Given the description of an element on the screen output the (x, y) to click on. 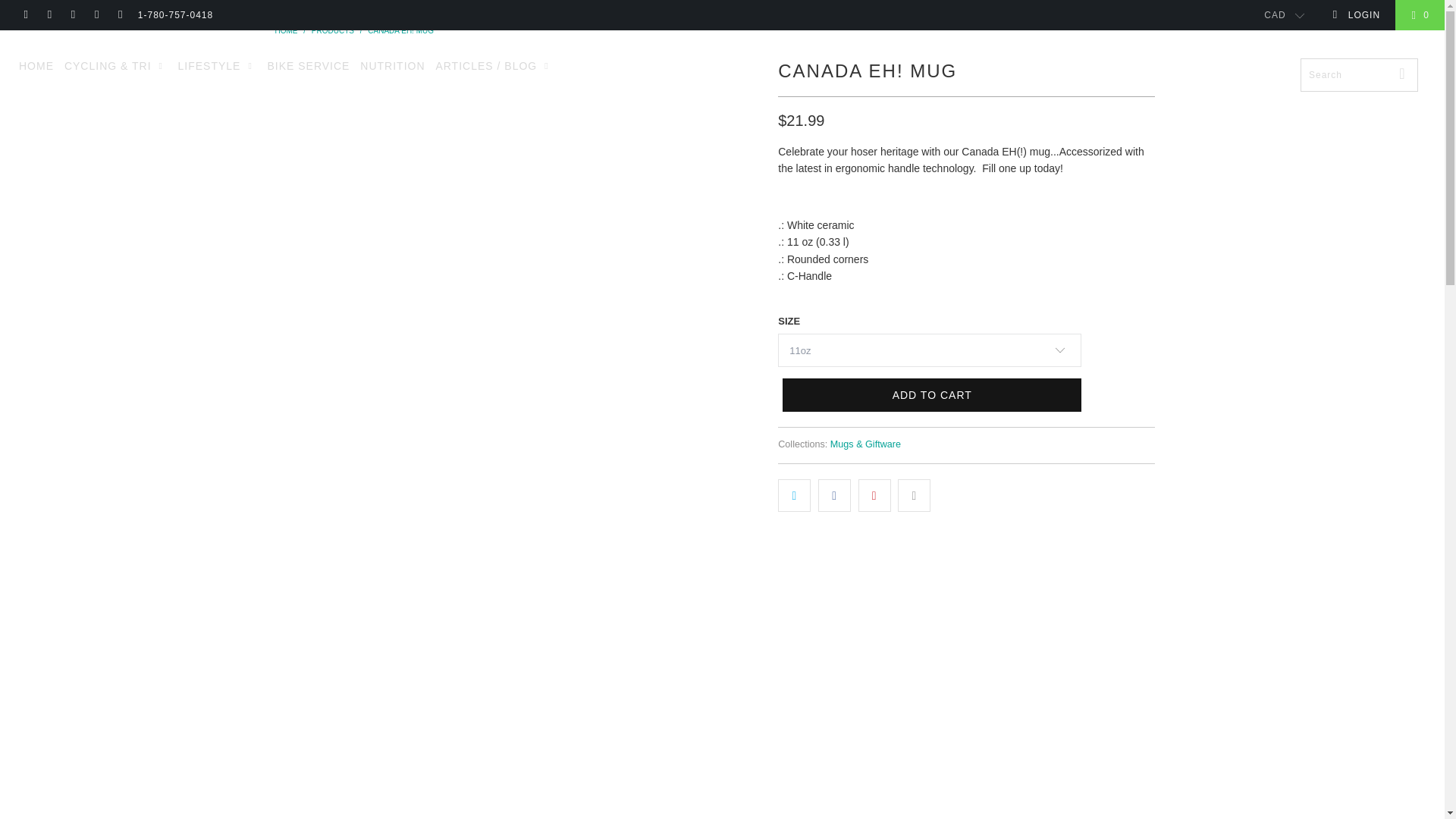
Email this to a friend (914, 495)
Products (332, 30)
Share this on Twitter (793, 495)
Share this on Facebook (834, 495)
My Account  (1355, 15)
Share this on Pinterest (875, 495)
